Given the description of an element on the screen output the (x, y) to click on. 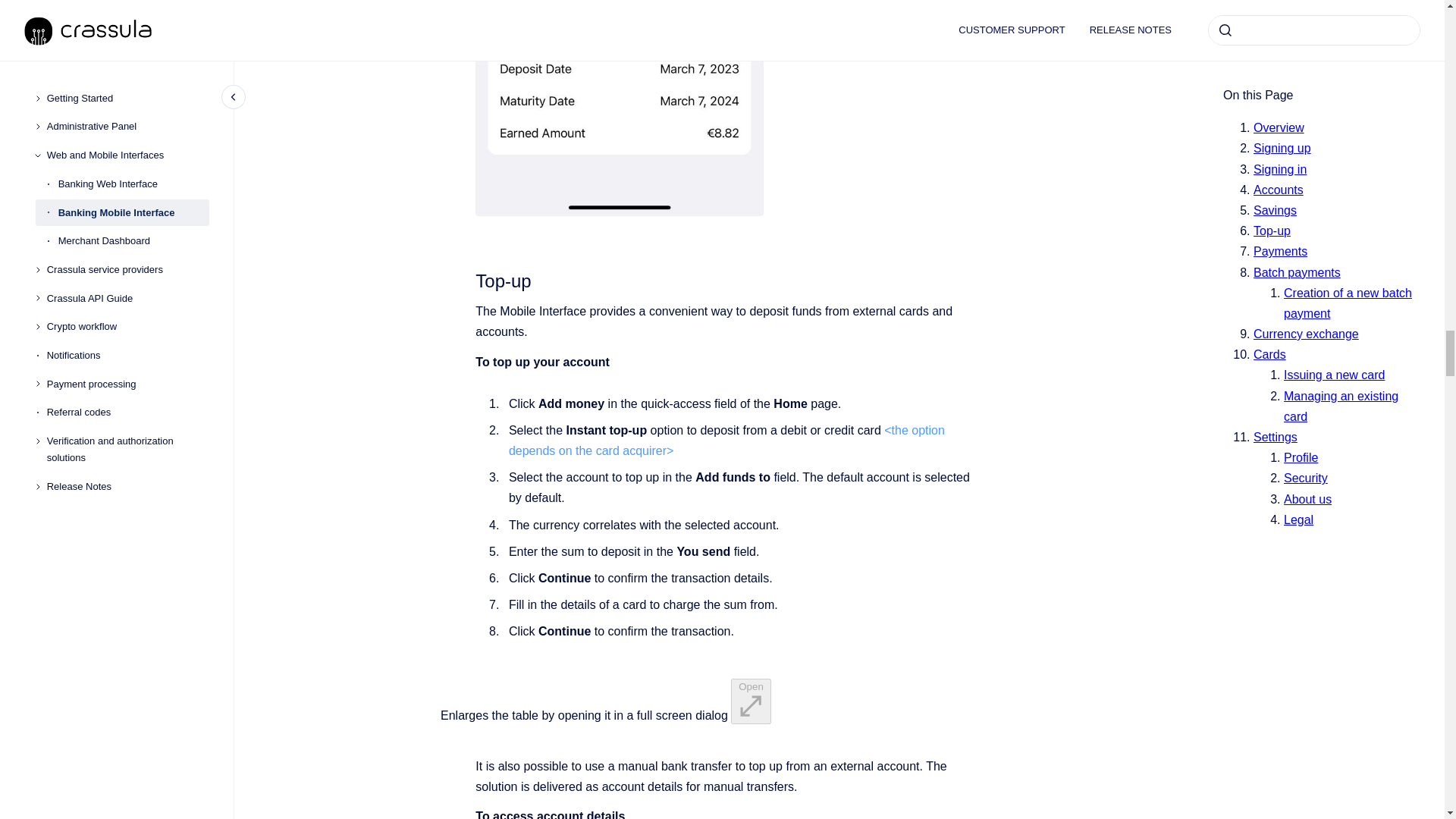
Copy to clipboard (468, 279)
